Given the description of an element on the screen output the (x, y) to click on. 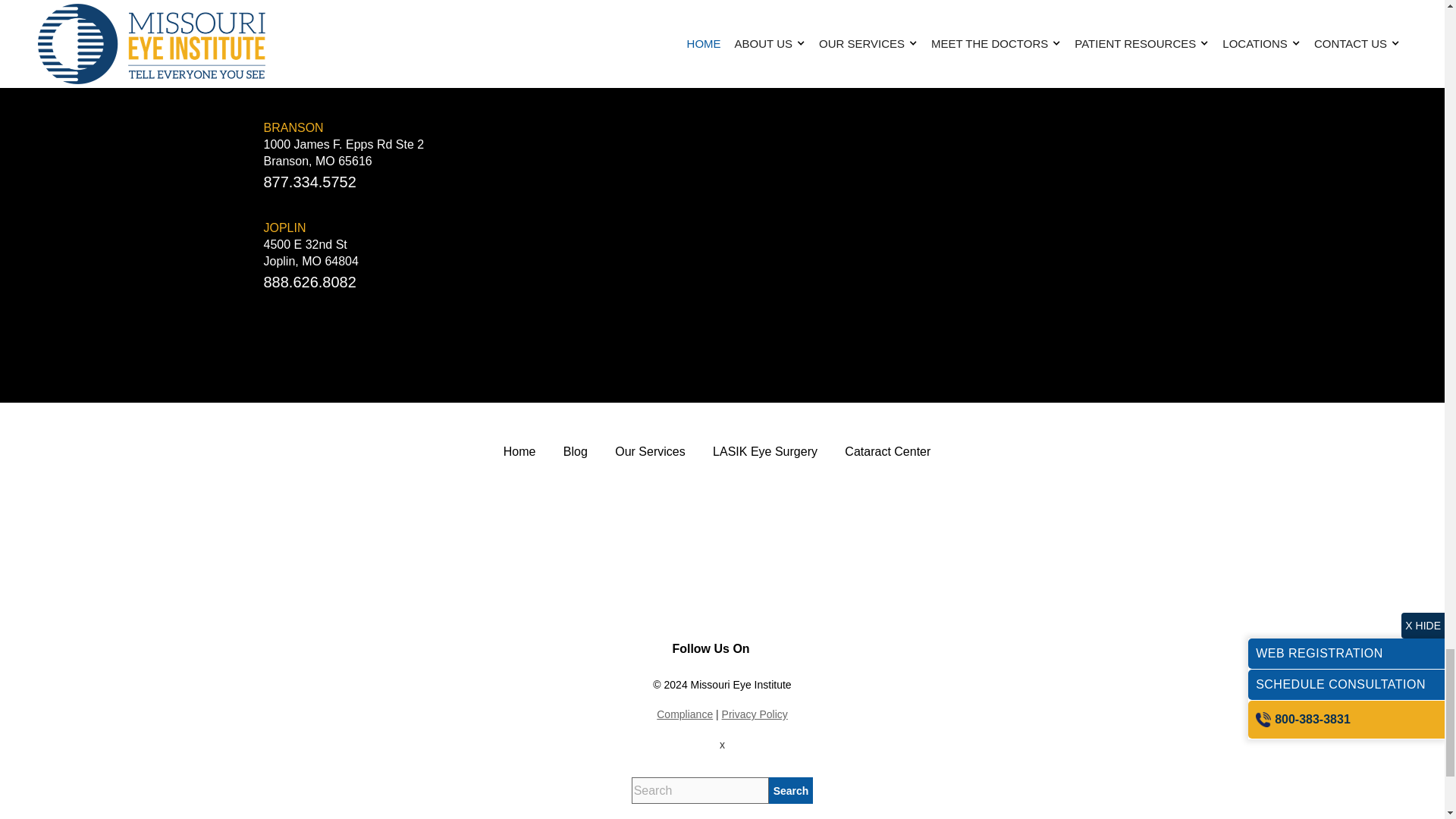
Search (790, 790)
Search (790, 790)
